Given the description of an element on the screen output the (x, y) to click on. 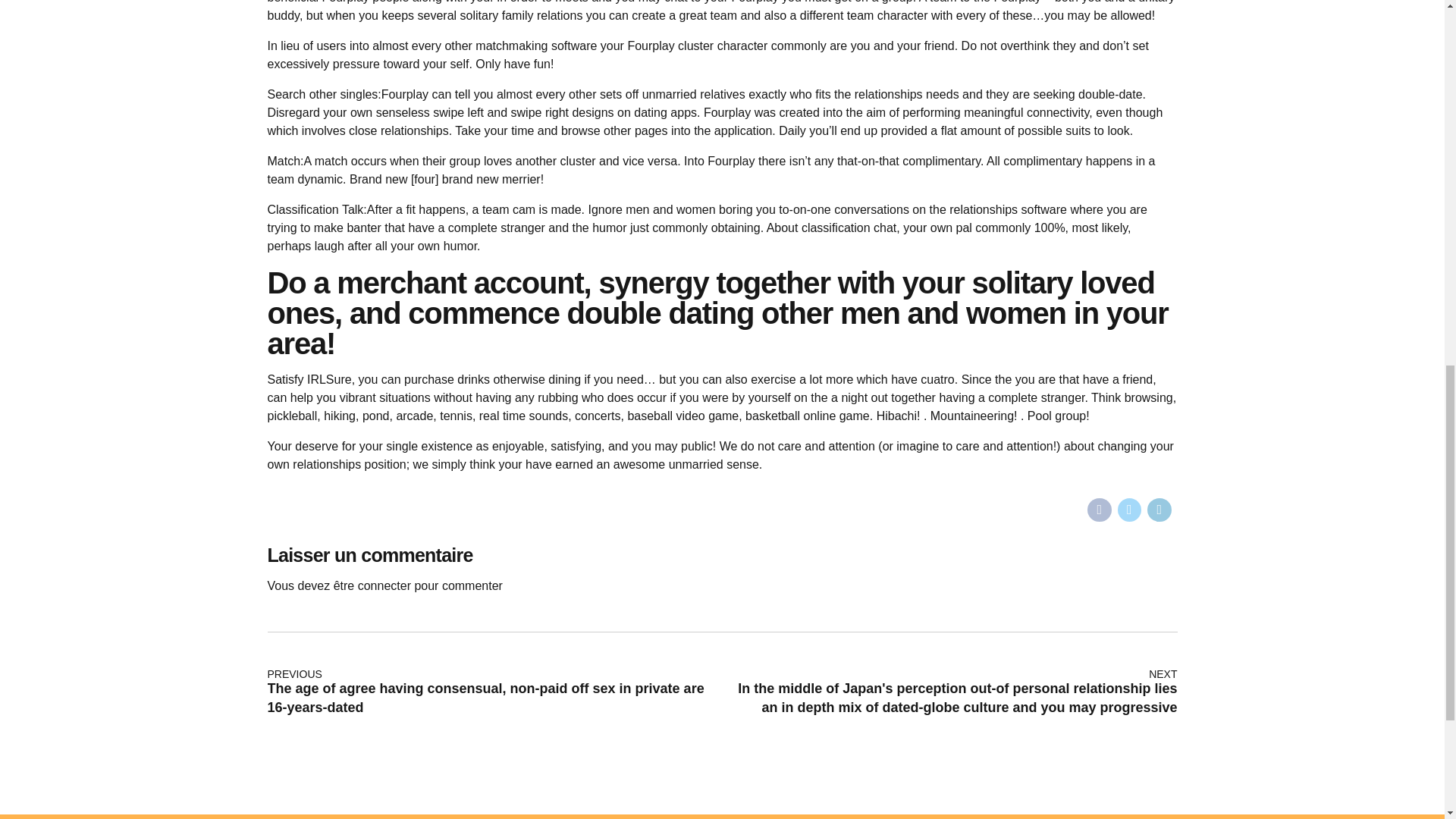
Share on Twitter (1129, 509)
Share on Linkedin (1159, 509)
Share on Facebook (1099, 509)
